Given the description of an element on the screen output the (x, y) to click on. 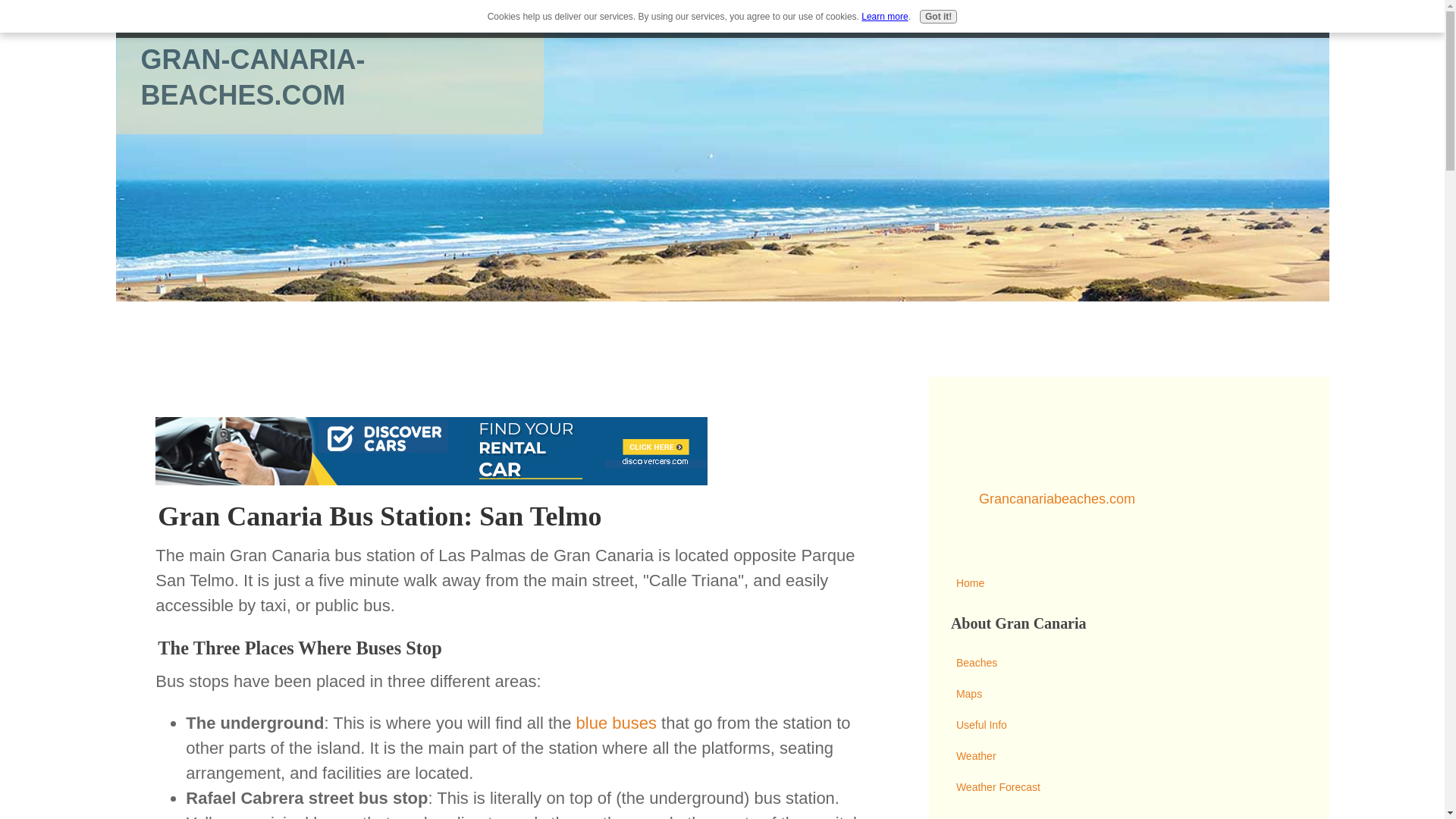
HOME (139, 18)
DiscoverCars.com (431, 450)
GRAN-CANARIA-BEACHES.COM (253, 77)
